Given the description of an element on the screen output the (x, y) to click on. 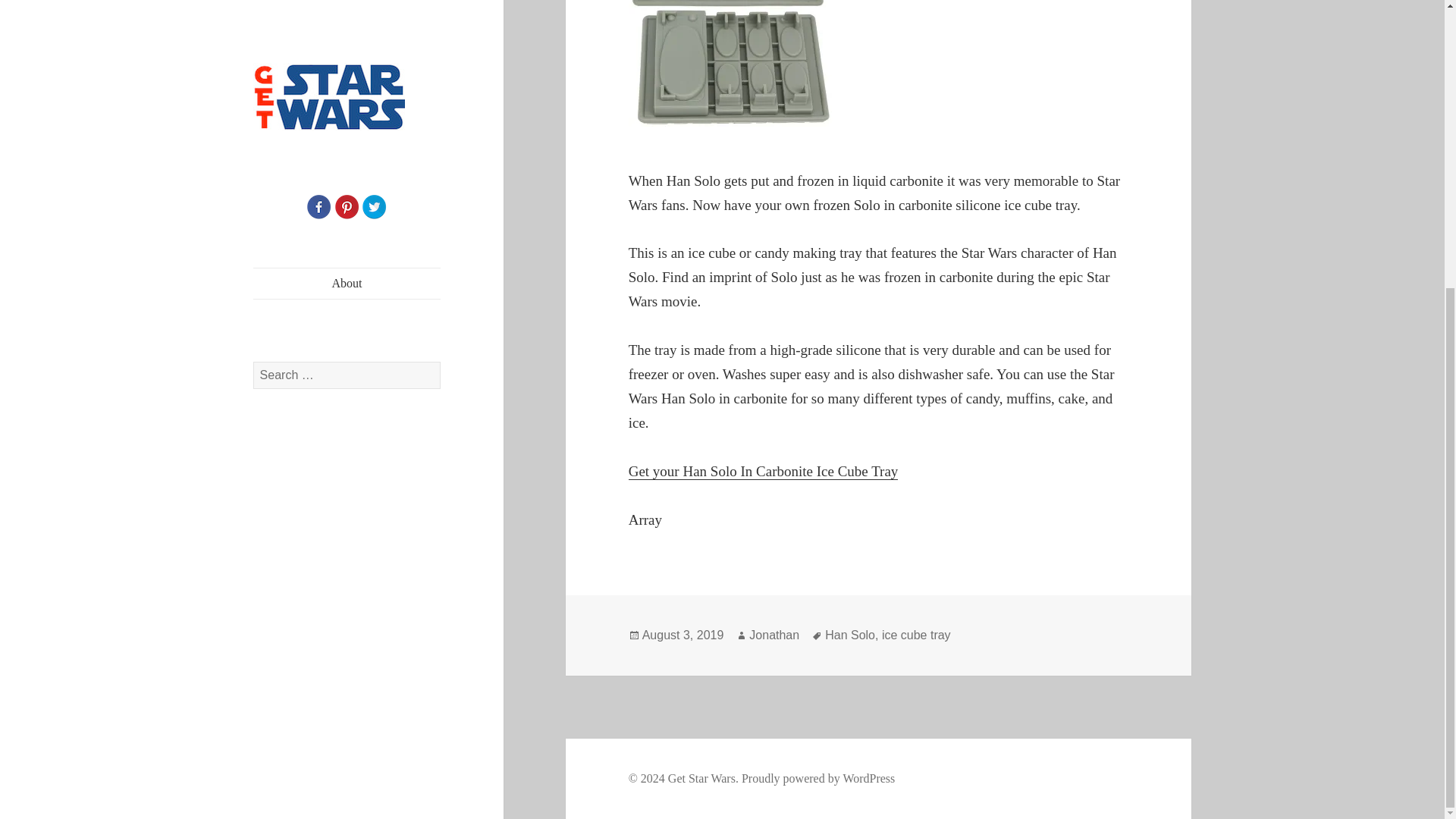
Get your Han Solo In Carbonite Ice Cube Tray (763, 471)
ice cube tray (916, 635)
Proudly powered by WordPress (818, 778)
August 3, 2019 (682, 635)
Jonathan (774, 635)
Han Solo (850, 635)
